Given the description of an element on the screen output the (x, y) to click on. 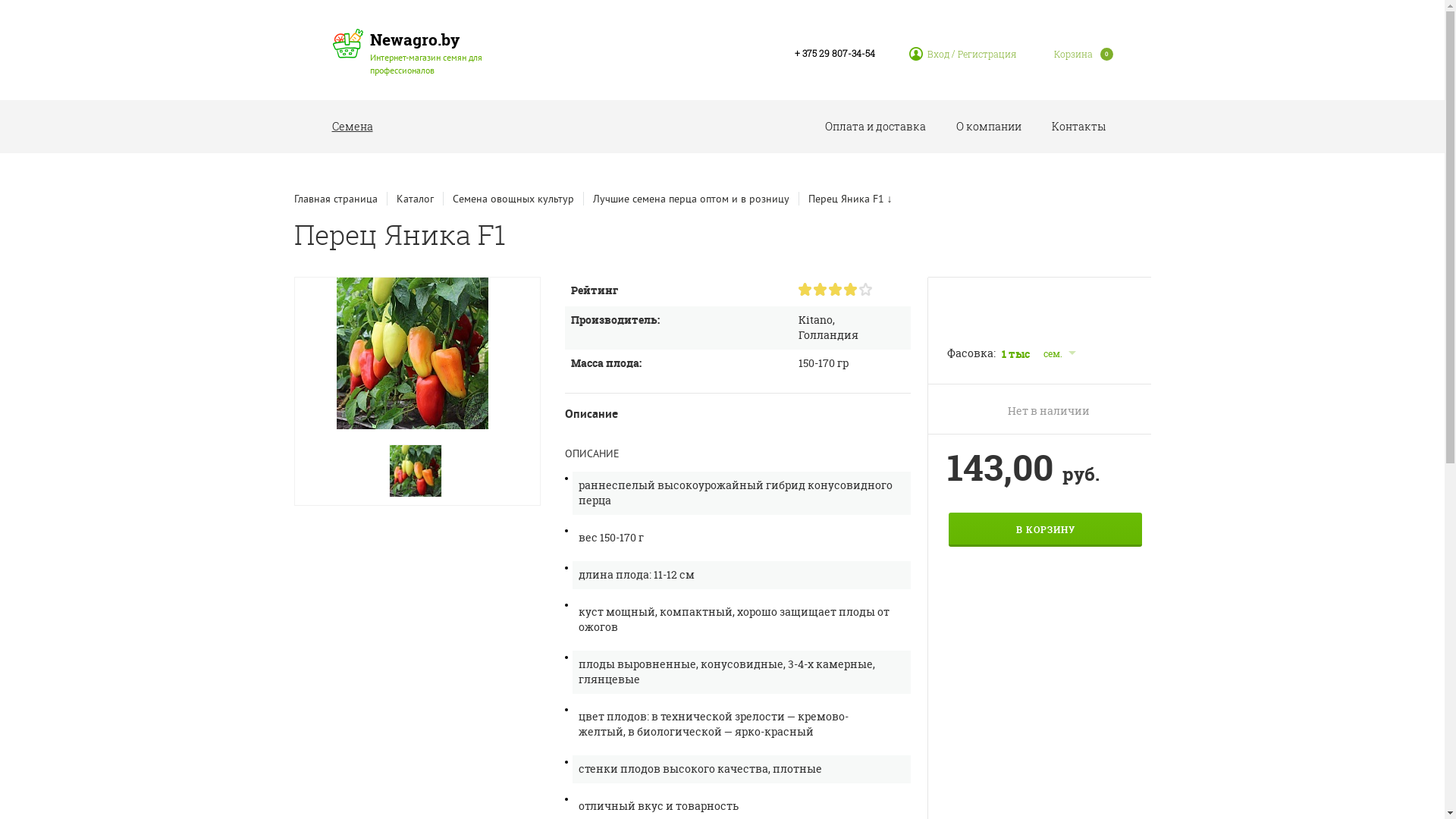
+ 375 29 807-34-54 Element type: text (834, 53)
